Given the description of an element on the screen output the (x, y) to click on. 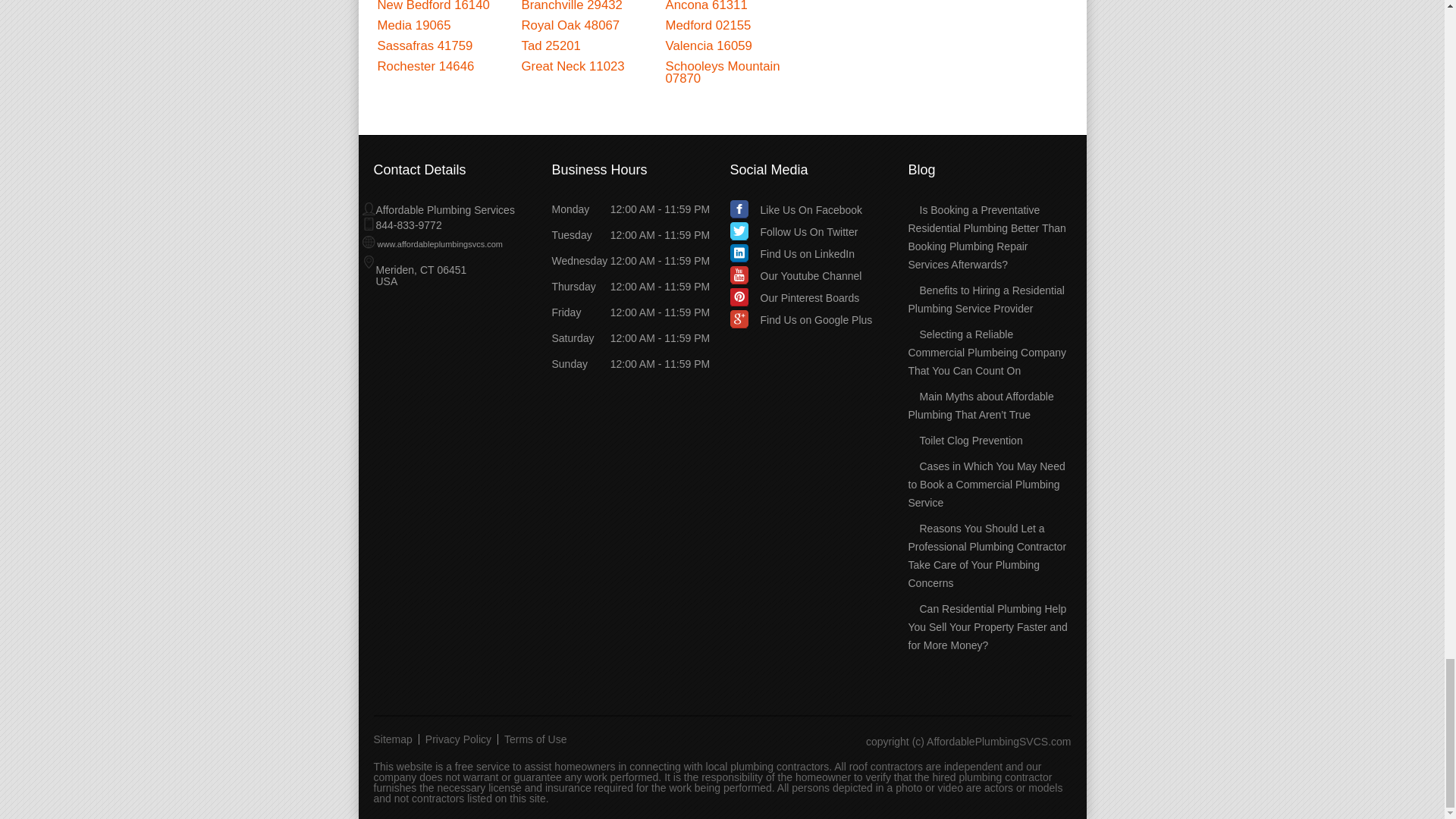
Branchville 29432 (572, 6)
Ancona 61311 (706, 6)
New Bedford 16140 (433, 6)
